Given the description of an element on the screen output the (x, y) to click on. 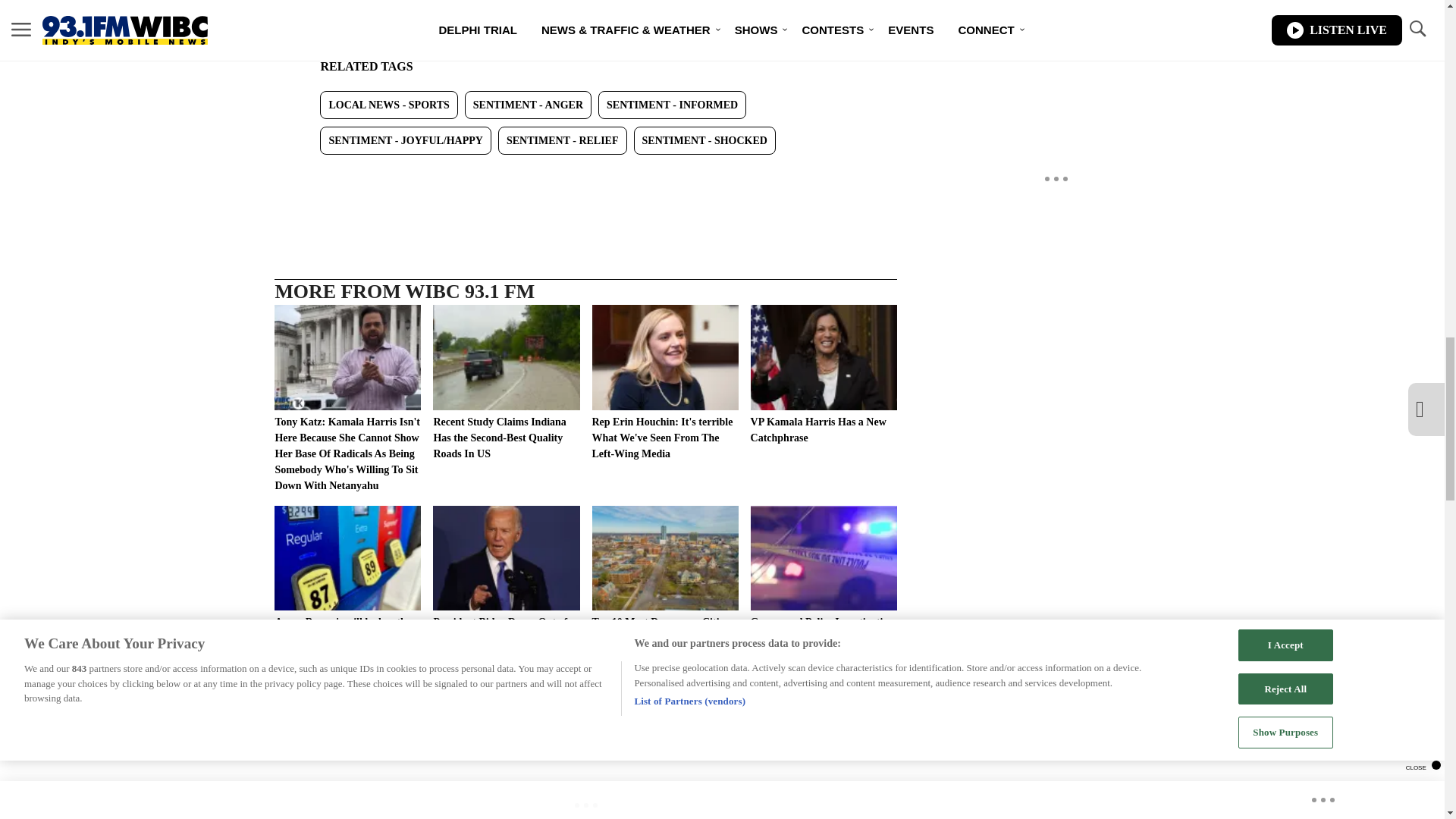
Vuukle Sharebar Widget (585, 179)
